Given the description of an element on the screen output the (x, y) to click on. 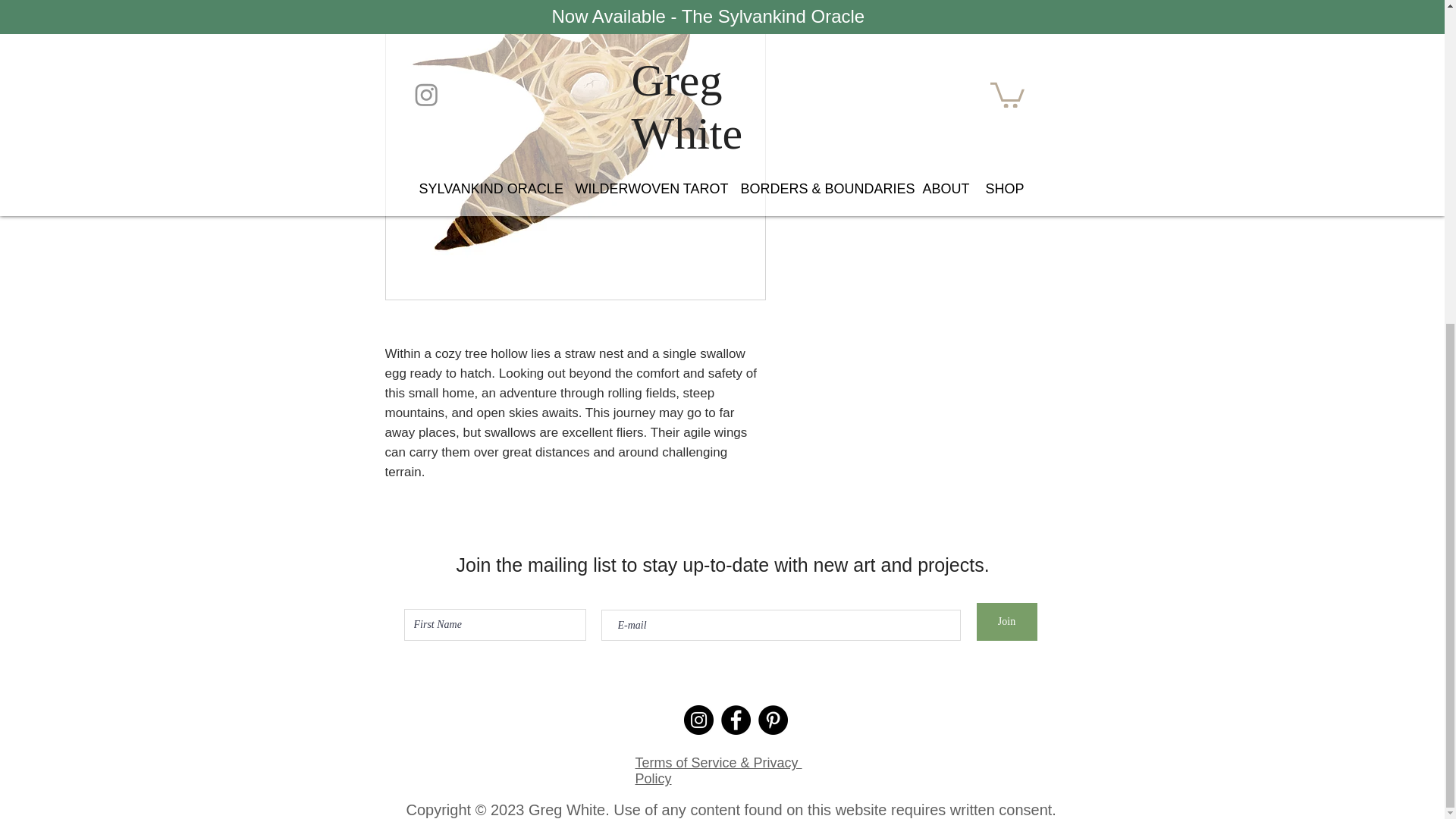
Join (1006, 621)
